Given the description of an element on the screen output the (x, y) to click on. 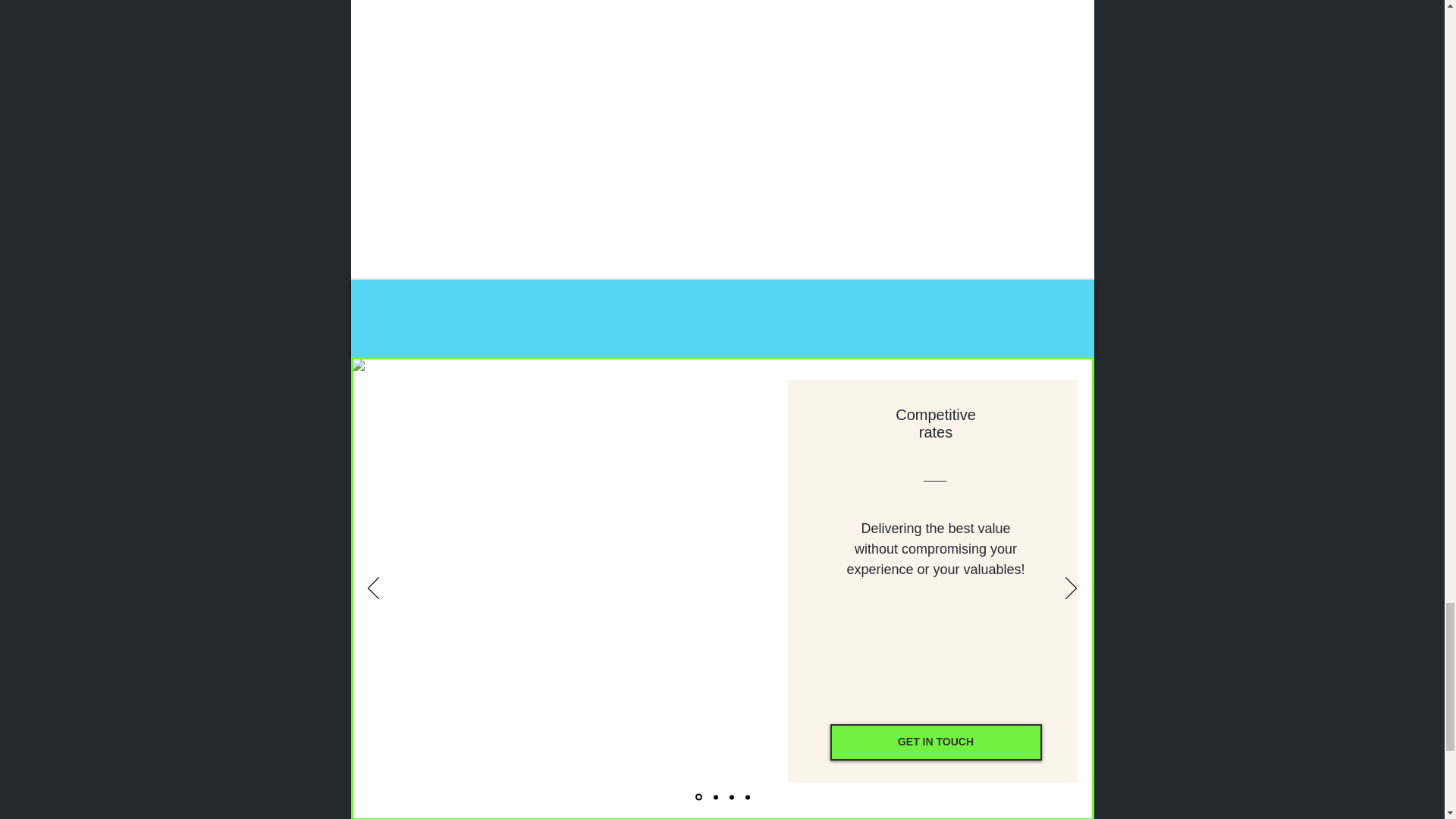
GET IN TOUCH (935, 741)
